Given the description of an element on the screen output the (x, y) to click on. 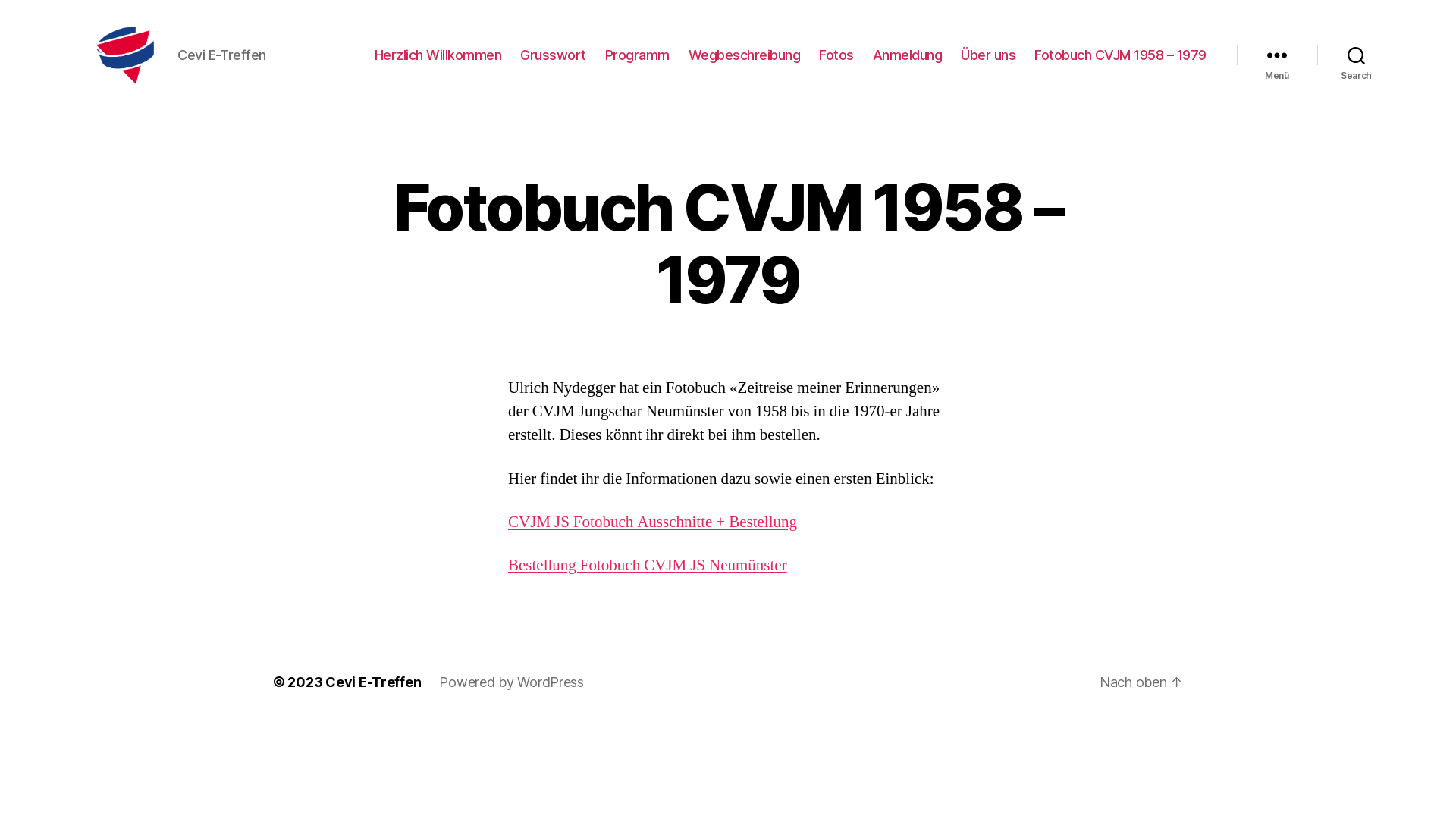
Powered by WordPress Element type: text (511, 682)
CVJM JS Fotobuch Ausschnitte + Bestellung Element type: text (652, 521)
Wegbeschreibung Element type: text (744, 55)
Anmeldung Element type: text (907, 55)
Grusswort Element type: text (553, 55)
Search Element type: text (1356, 55)
Herzlich Willkommen Element type: text (438, 55)
Programm Element type: text (637, 55)
Cevi E-Treffen Element type: text (372, 682)
Fotos Element type: text (836, 55)
